Given the description of an element on the screen output the (x, y) to click on. 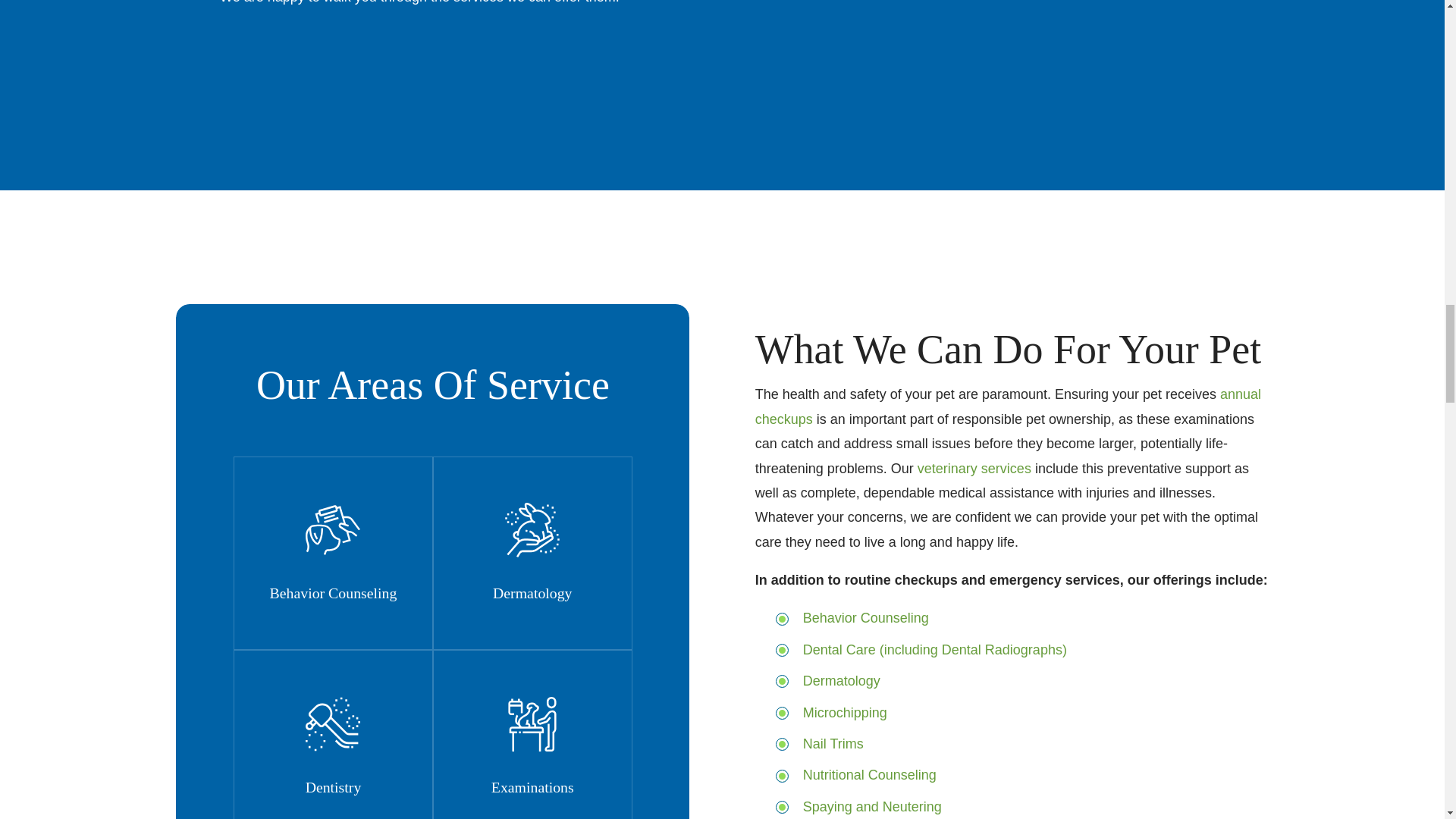
Behavior Counseling Icon (332, 529)
Dermatology Icon (532, 529)
Dentistry Icon (332, 723)
Examinations Icon (532, 723)
